Given the description of an element on the screen output the (x, y) to click on. 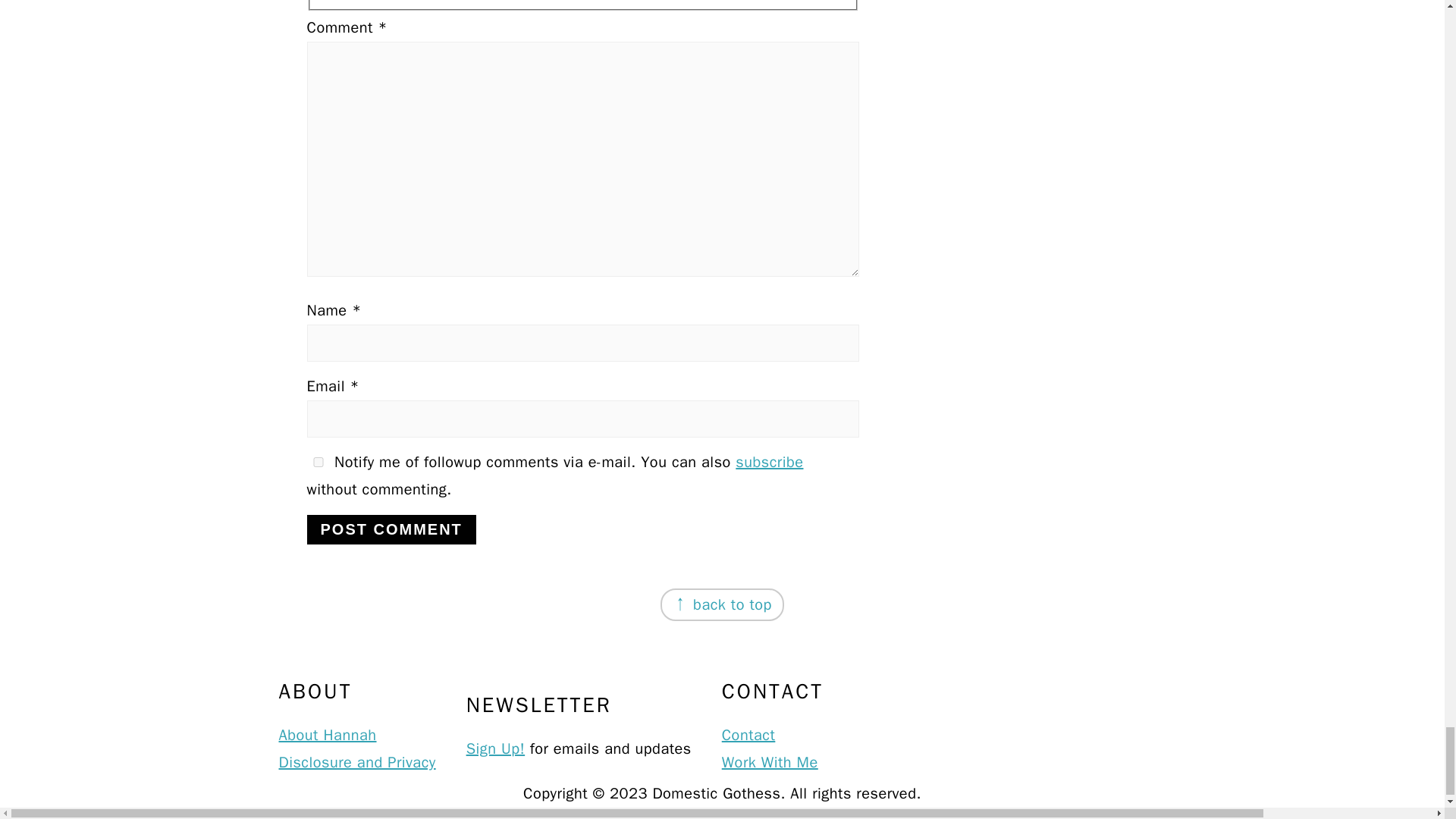
replies (317, 461)
Post Comment (390, 529)
